Given the description of an element on the screen output the (x, y) to click on. 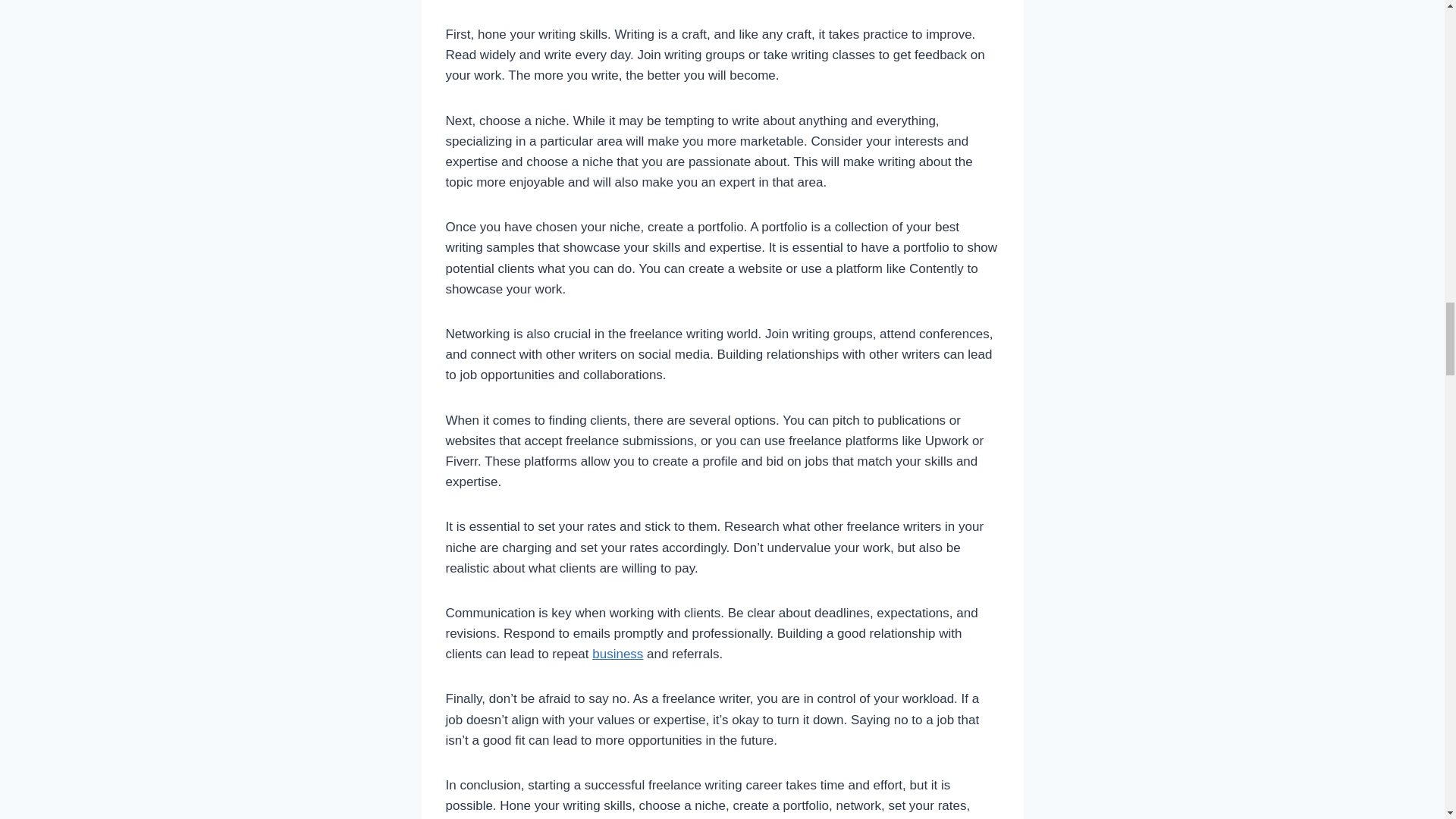
business (617, 653)
business (617, 653)
